Given the description of an element on the screen output the (x, y) to click on. 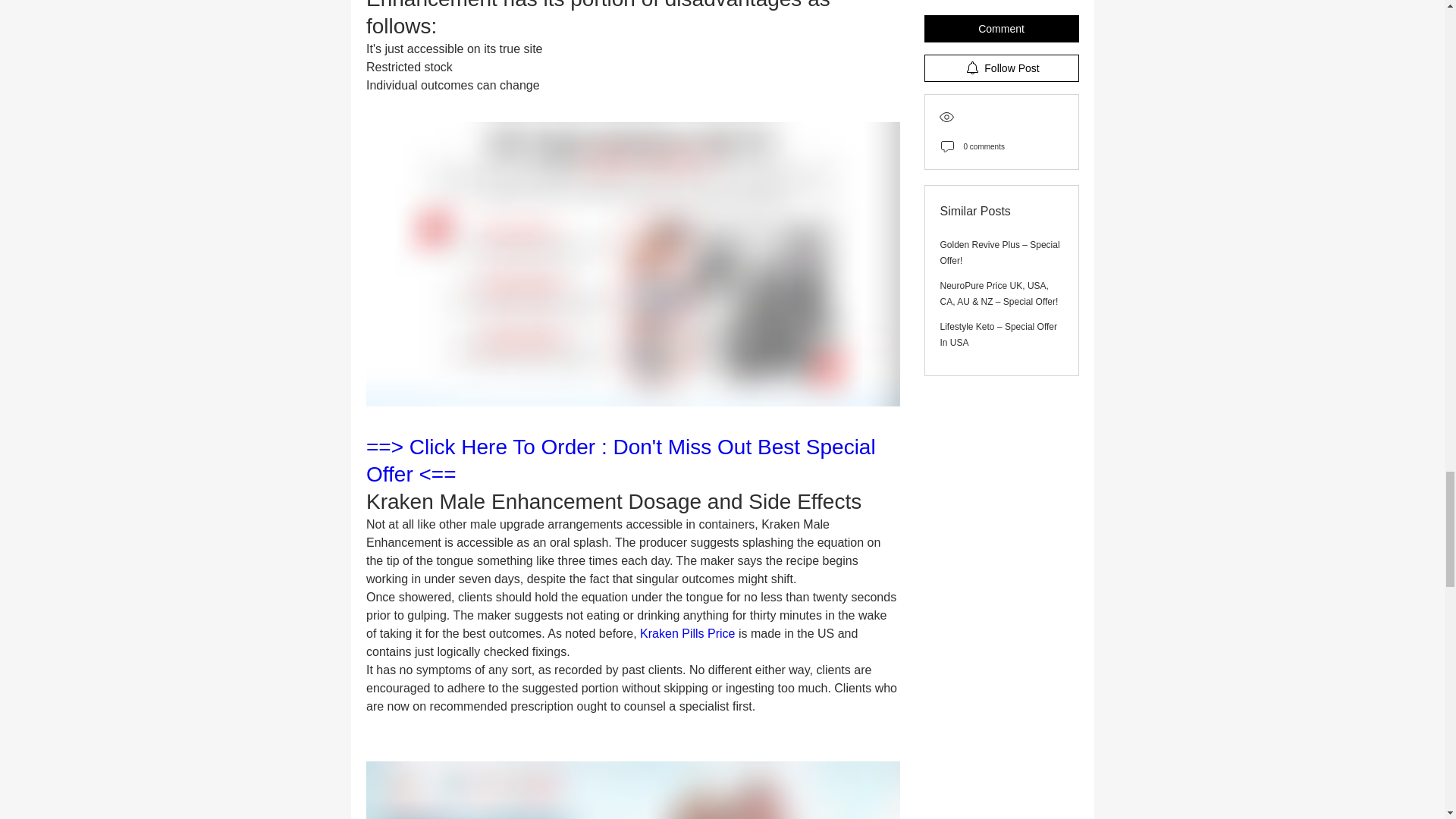
Kraken Pills Price (687, 633)
